Given the description of an element on the screen output the (x, y) to click on. 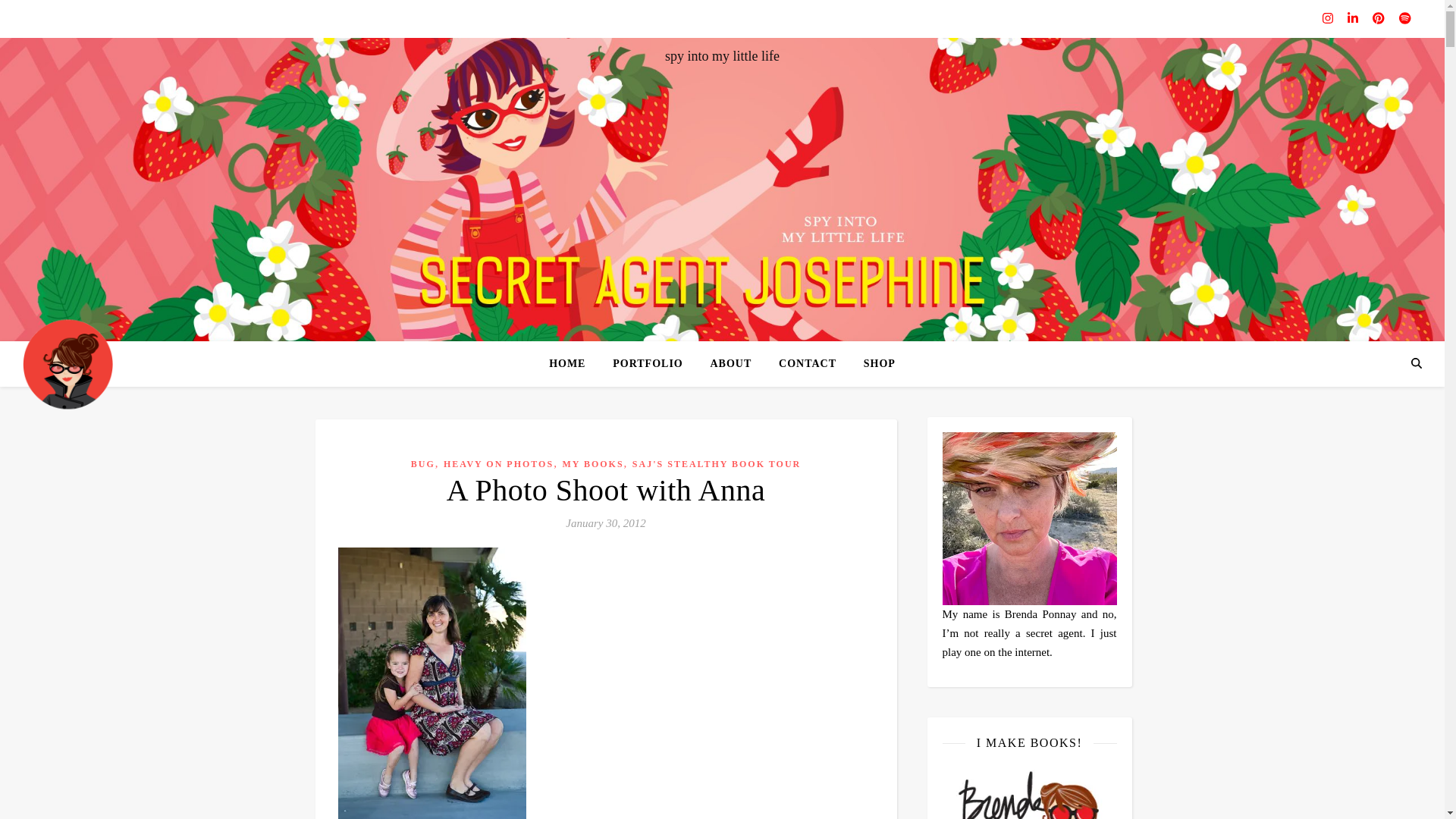
CONTACT (807, 363)
HEAVY ON PHOTOS (498, 463)
PORTFOLIO (647, 363)
HOME (572, 363)
SAJ'S STEALTHY BOOK TOUR (715, 463)
SHOP (873, 363)
ABOUT (729, 363)
MY BOOKS (592, 463)
BUG (422, 463)
Secret Agent Josephine (68, 363)
